Given the description of an element on the screen output the (x, y) to click on. 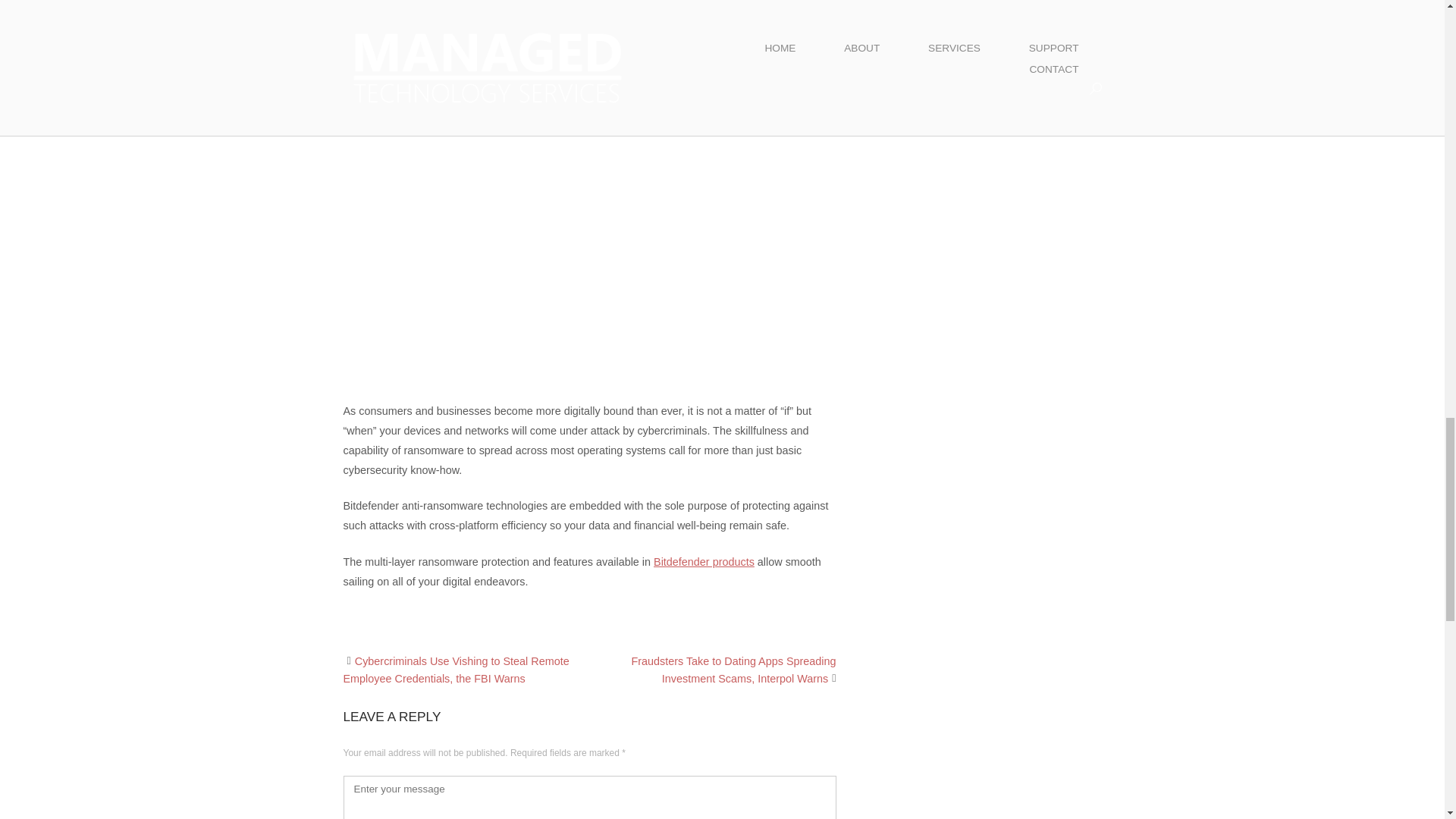
Bitdefender products (703, 562)
